Given the description of an element on the screen output the (x, y) to click on. 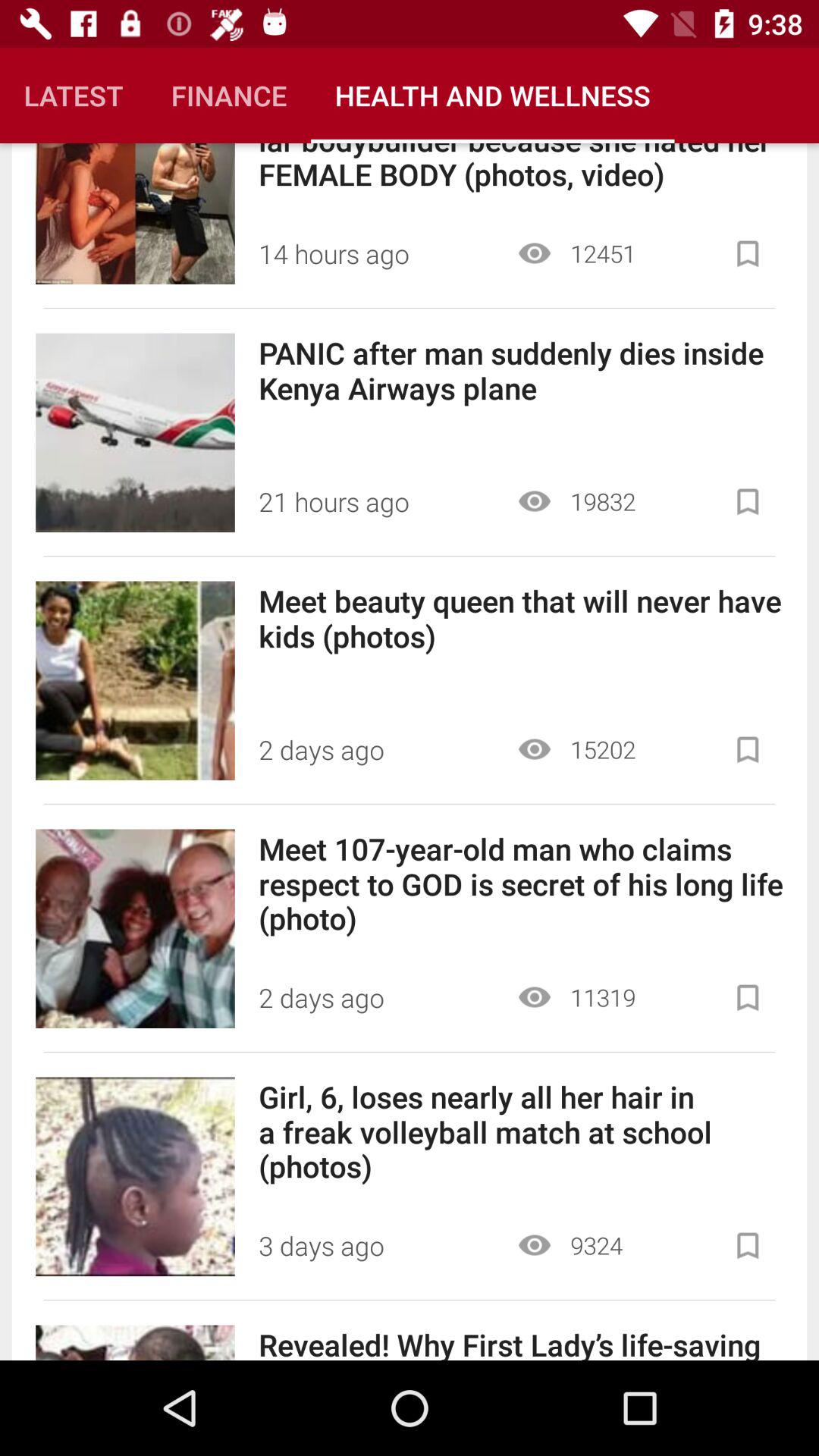
flag detail (747, 997)
